Given the description of an element on the screen output the (x, y) to click on. 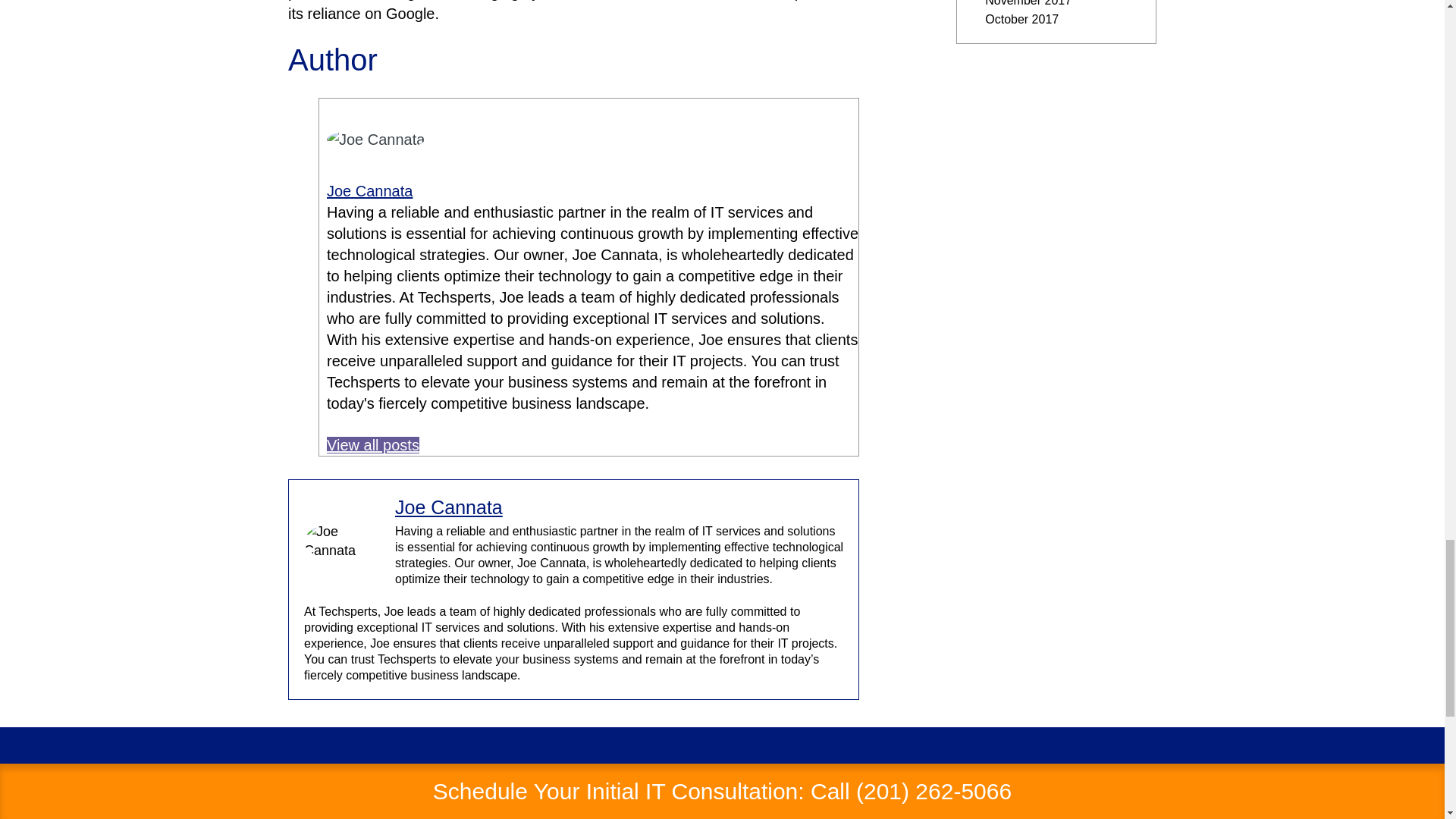
View all posts (372, 444)
Joe Cannata (369, 190)
Joe Cannata (369, 190)
Joe Cannata (448, 506)
View all posts (372, 444)
